Given the description of an element on the screen output the (x, y) to click on. 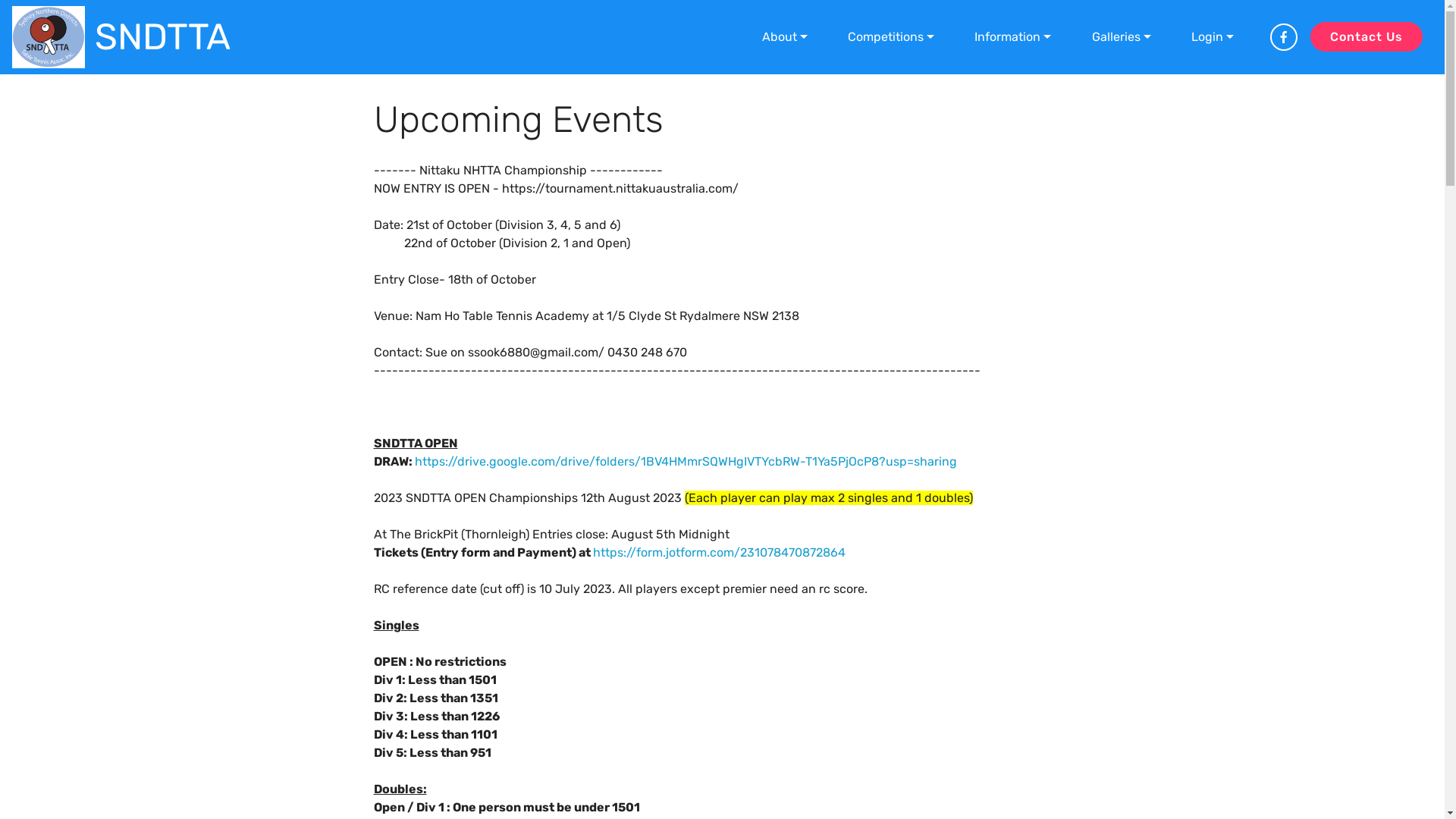
SNDTTA Element type: text (162, 36)
Competitions Element type: text (890, 36)
Contact Us Element type: text (1366, 36)
Sydney Northern District Table Tennis Association Element type: hover (48, 37)
https://form.jotform.com/231078470872864 Element type: text (719, 552)
About Element type: text (784, 36)
Information Element type: text (1012, 36)
Galleries Element type: text (1120, 36)
Login Element type: text (1211, 36)
